Given the description of an element on the screen output the (x, y) to click on. 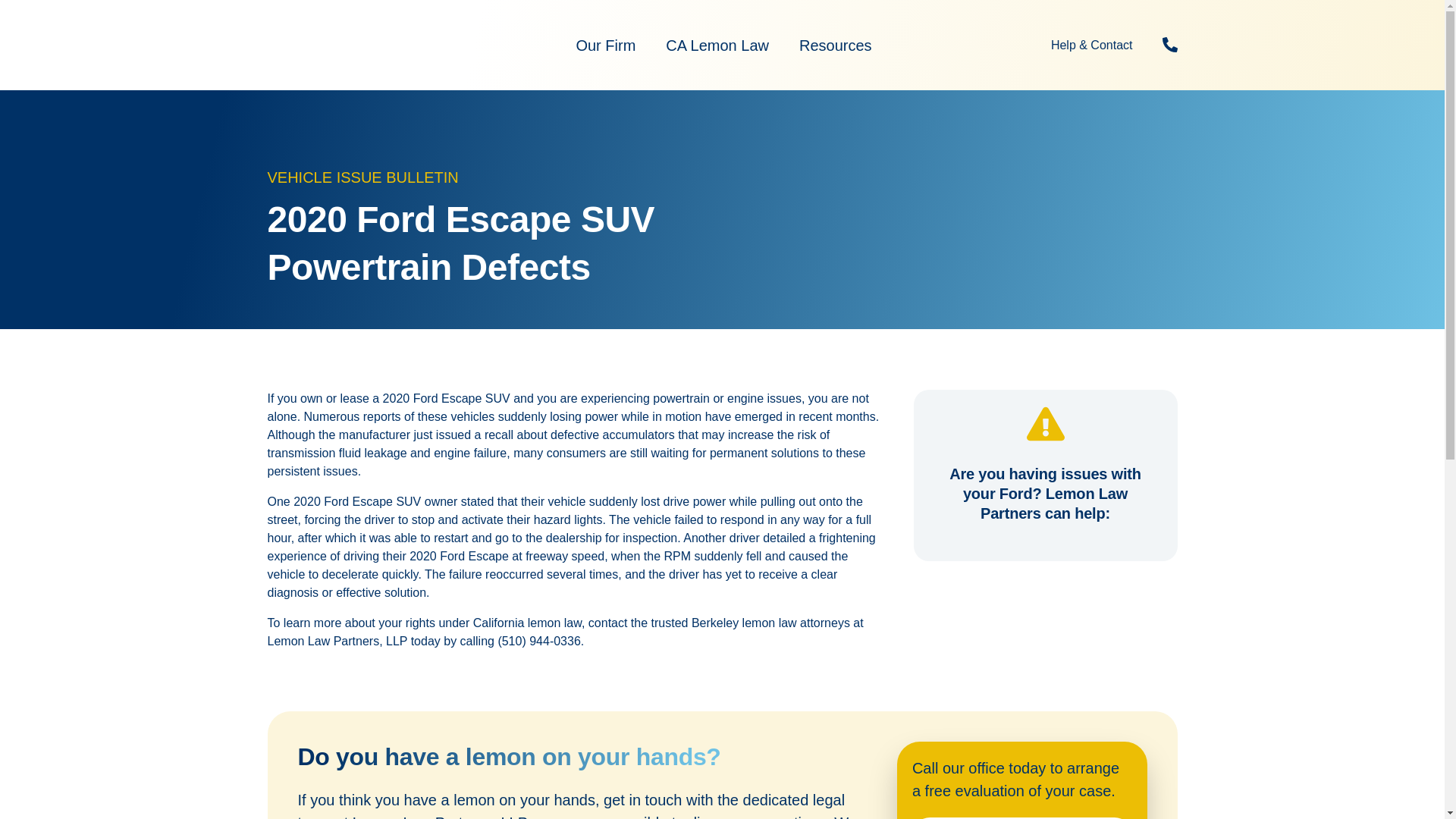
Our Firm (605, 45)
CA Lemon Law (717, 45)
Resources (835, 45)
